Given the description of an element on the screen output the (x, y) to click on. 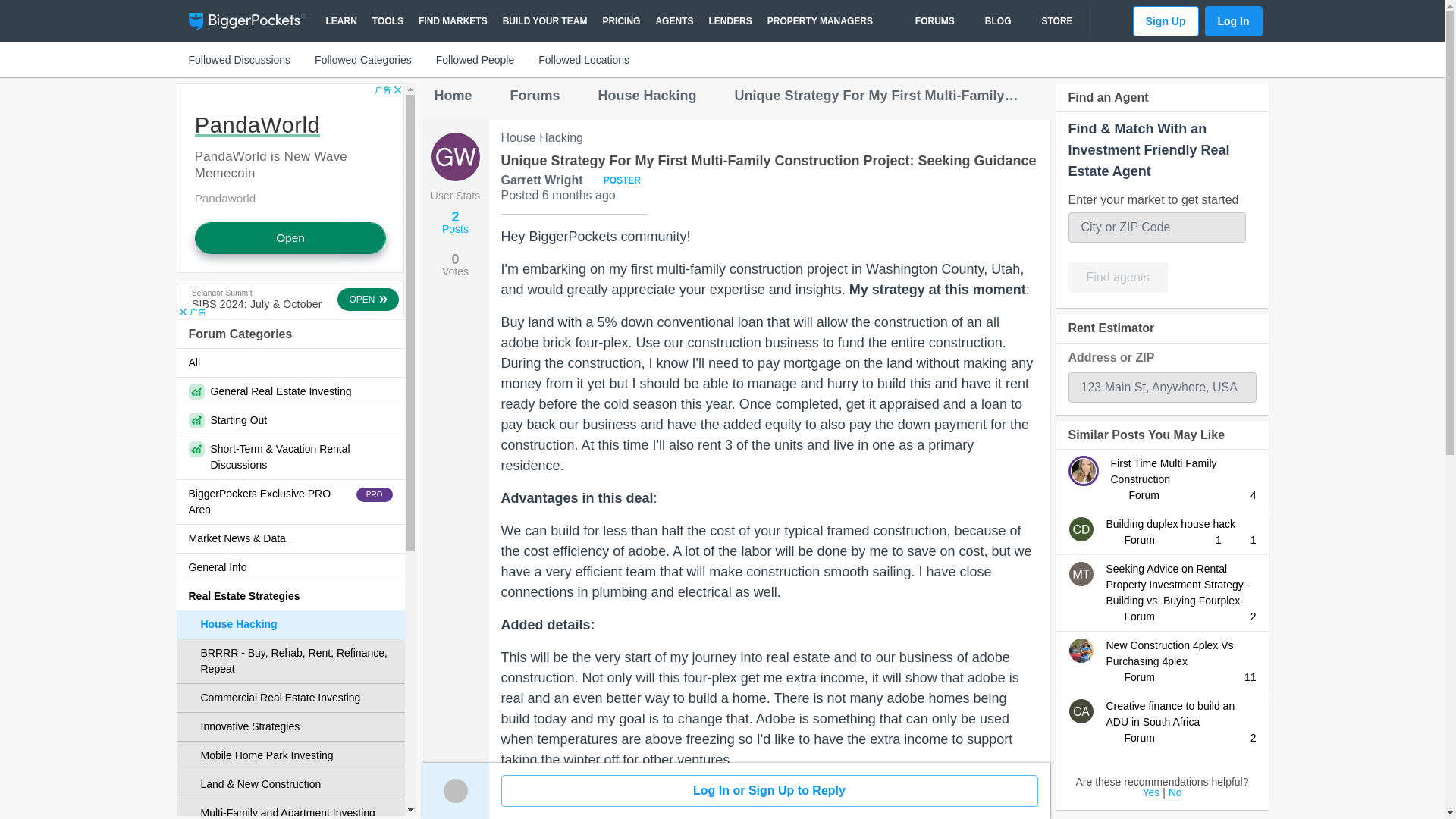
Find Markets (452, 21)
LEARN (341, 21)
Advertisement (289, 299)
Learn (341, 21)
Store (1048, 21)
TOOLS (387, 21)
Lenders (729, 21)
The General Real Estate Investing forum is trending (290, 391)
Blog (990, 21)
Agents (673, 21)
Find agents (1117, 277)
Pricing (620, 21)
Forums (927, 21)
Build Your Team (545, 21)
Advertisement (289, 177)
